Given the description of an element on the screen output the (x, y) to click on. 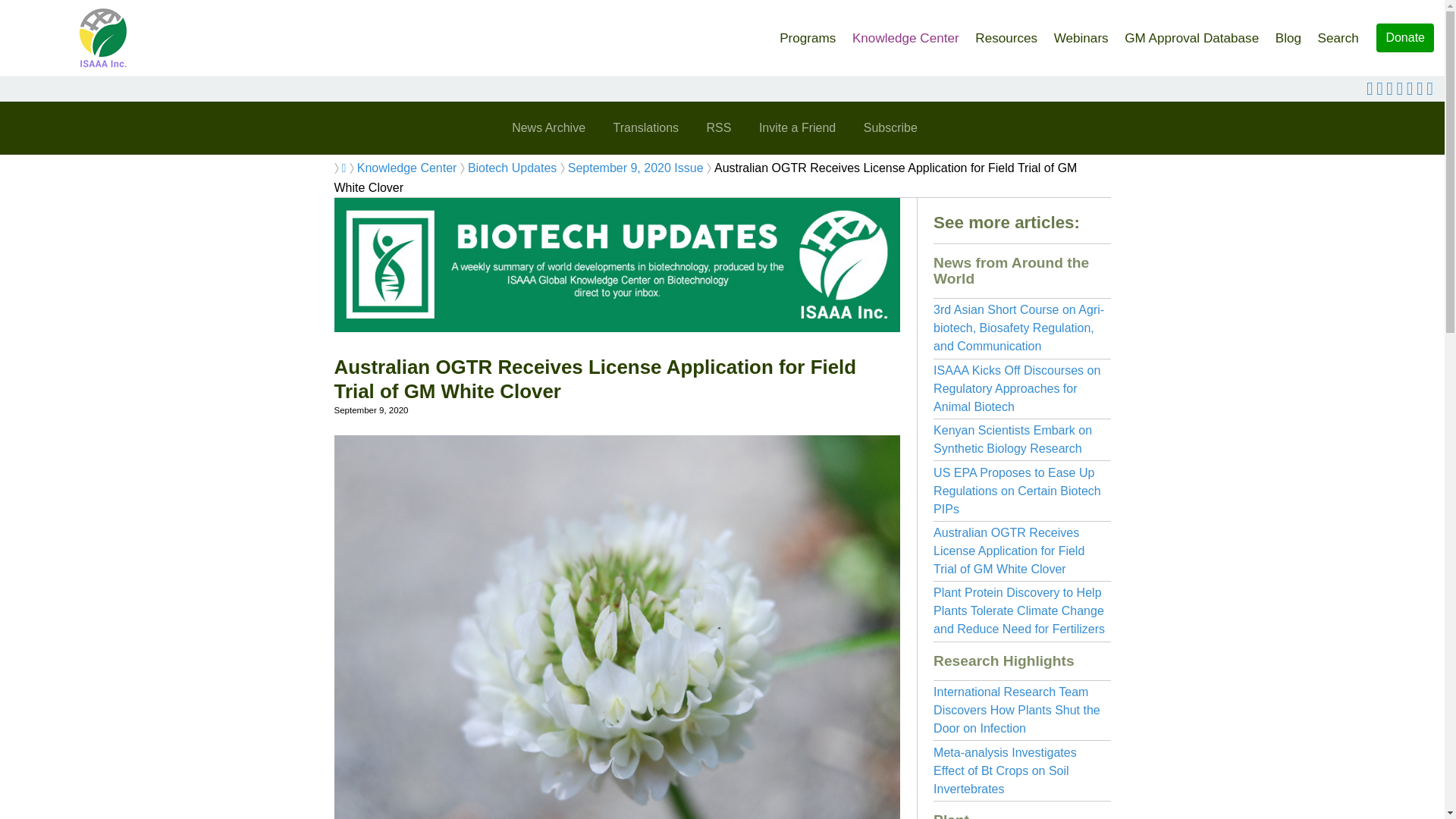
Invite a Friend (796, 127)
Subscribe (890, 127)
Knowledge Center (905, 32)
Donate (1404, 37)
Translations (644, 127)
News Archive (547, 127)
September 9, 2020 Issue (635, 167)
Search (1337, 32)
Blog (1288, 32)
